Given the description of an element on the screen output the (x, y) to click on. 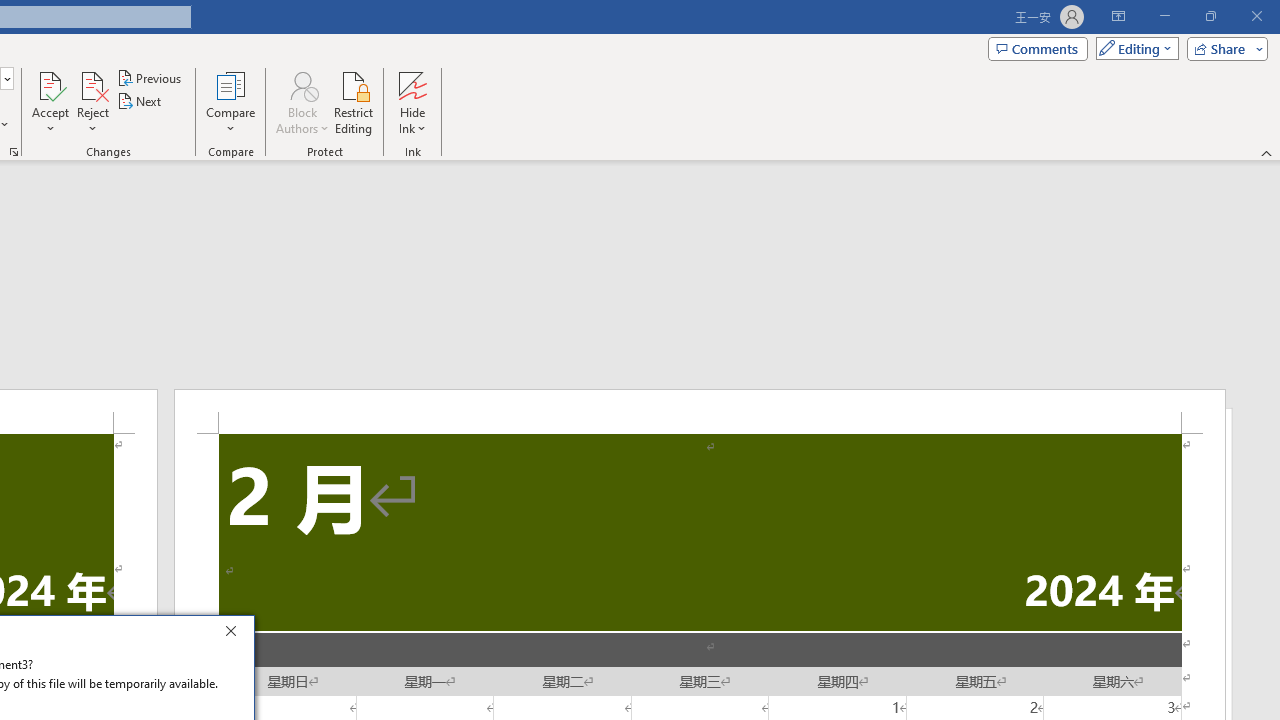
Accept (50, 102)
Accept and Move to Next (50, 84)
Header -Section 2- (700, 411)
Change Tracking Options... (13, 151)
Next (140, 101)
Hide Ink (412, 84)
Compare (230, 102)
Previous (150, 78)
